Given the description of an element on the screen output the (x, y) to click on. 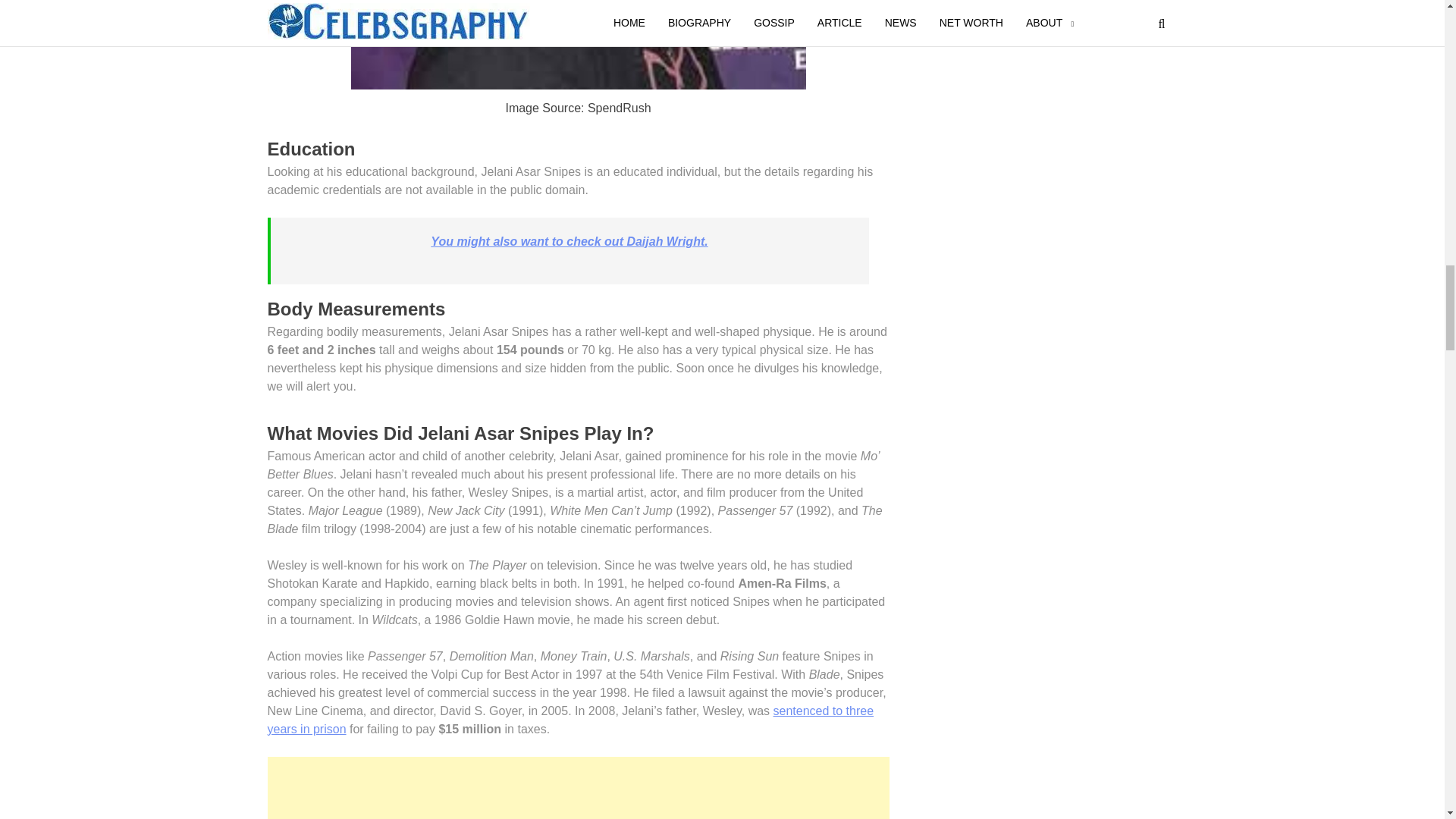
Advertisement (577, 791)
sentenced to three years in prison (569, 719)
You might also want to check out Daijah Wright. (568, 241)
